Given the description of an element on the screen output the (x, y) to click on. 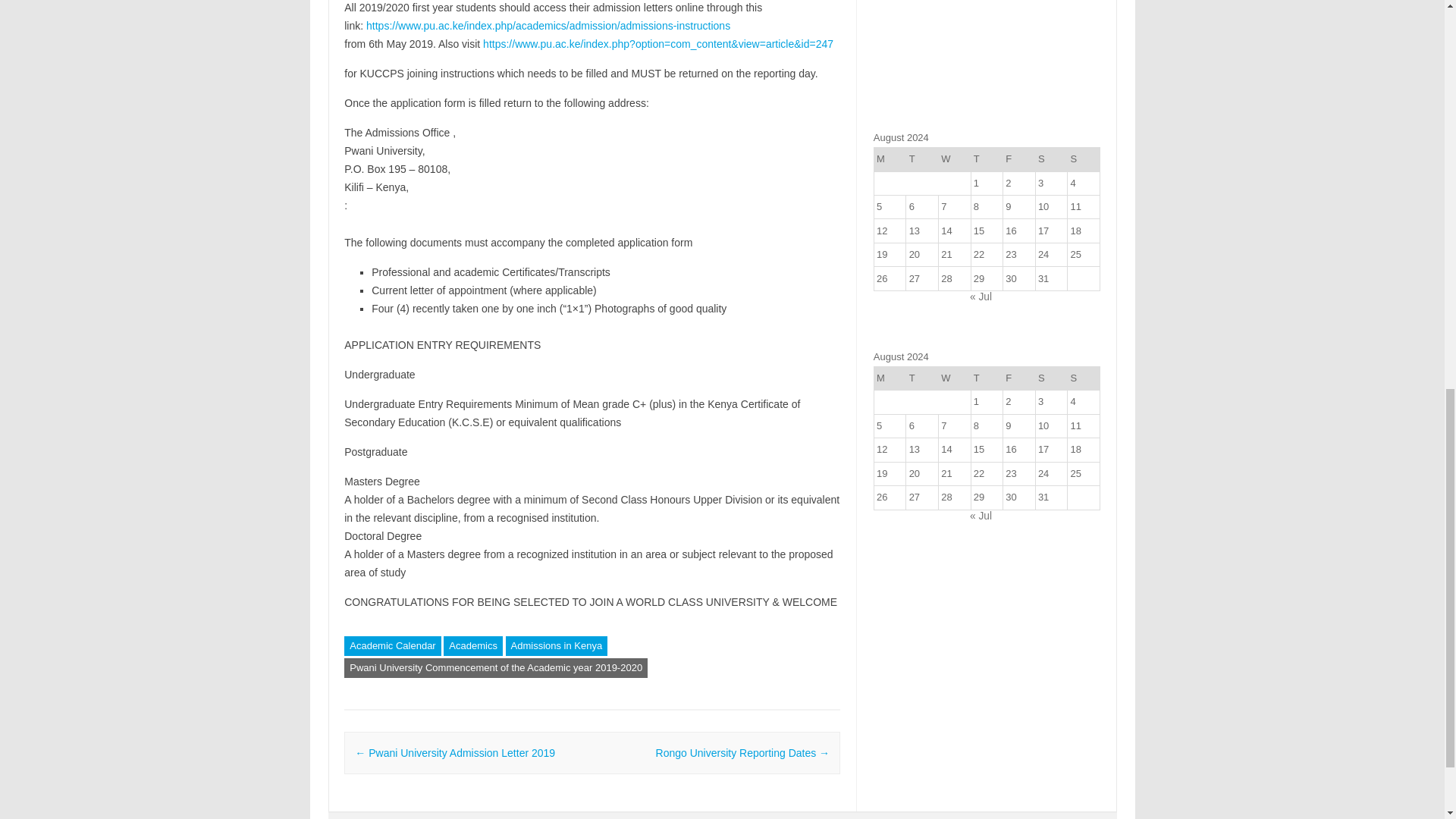
Academic Calendar (392, 646)
Tuesday (922, 159)
Admissions in Kenya (556, 646)
Advertisement (986, 56)
Friday (1019, 159)
Monday (889, 159)
Academics (473, 646)
Saturday (1051, 159)
Thursday (987, 159)
Wednesday (954, 159)
